Given the description of an element on the screen output the (x, y) to click on. 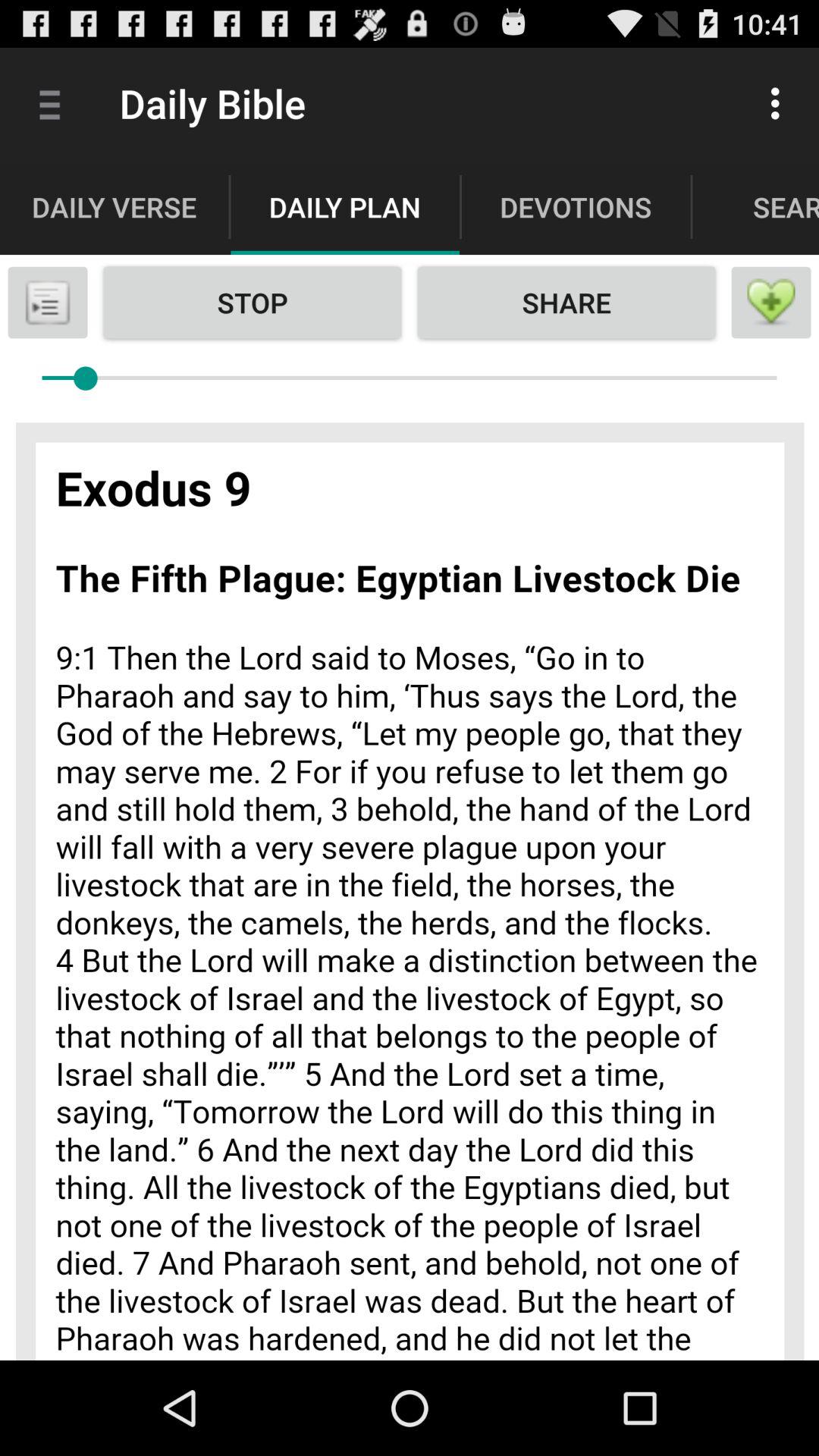
menu page (771, 302)
